Given the description of an element on the screen output the (x, y) to click on. 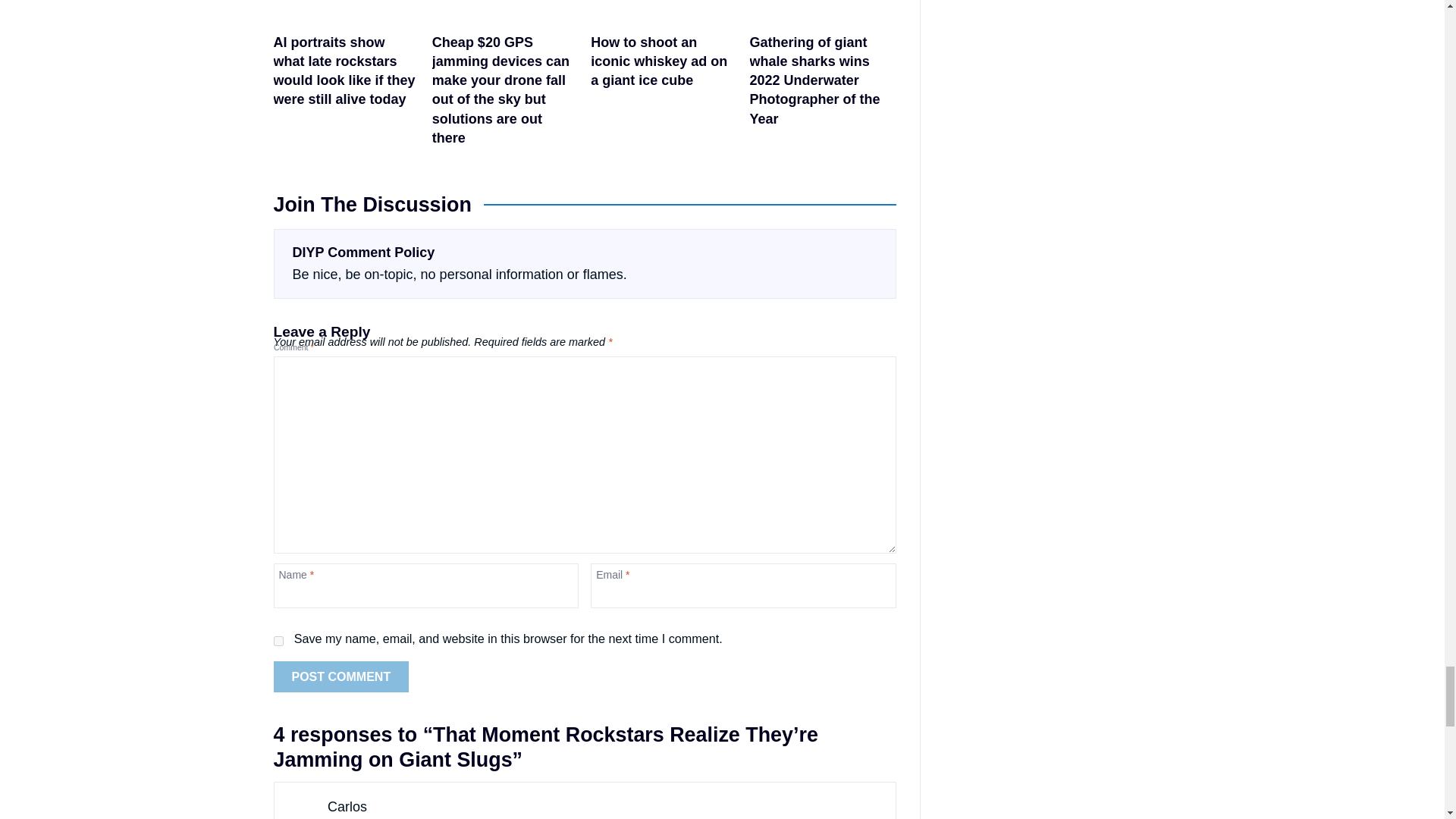
How to shoot an iconic whiskey ad on a giant ice cube (663, 76)
Post Comment (341, 676)
yes (277, 641)
